Given the description of an element on the screen output the (x, y) to click on. 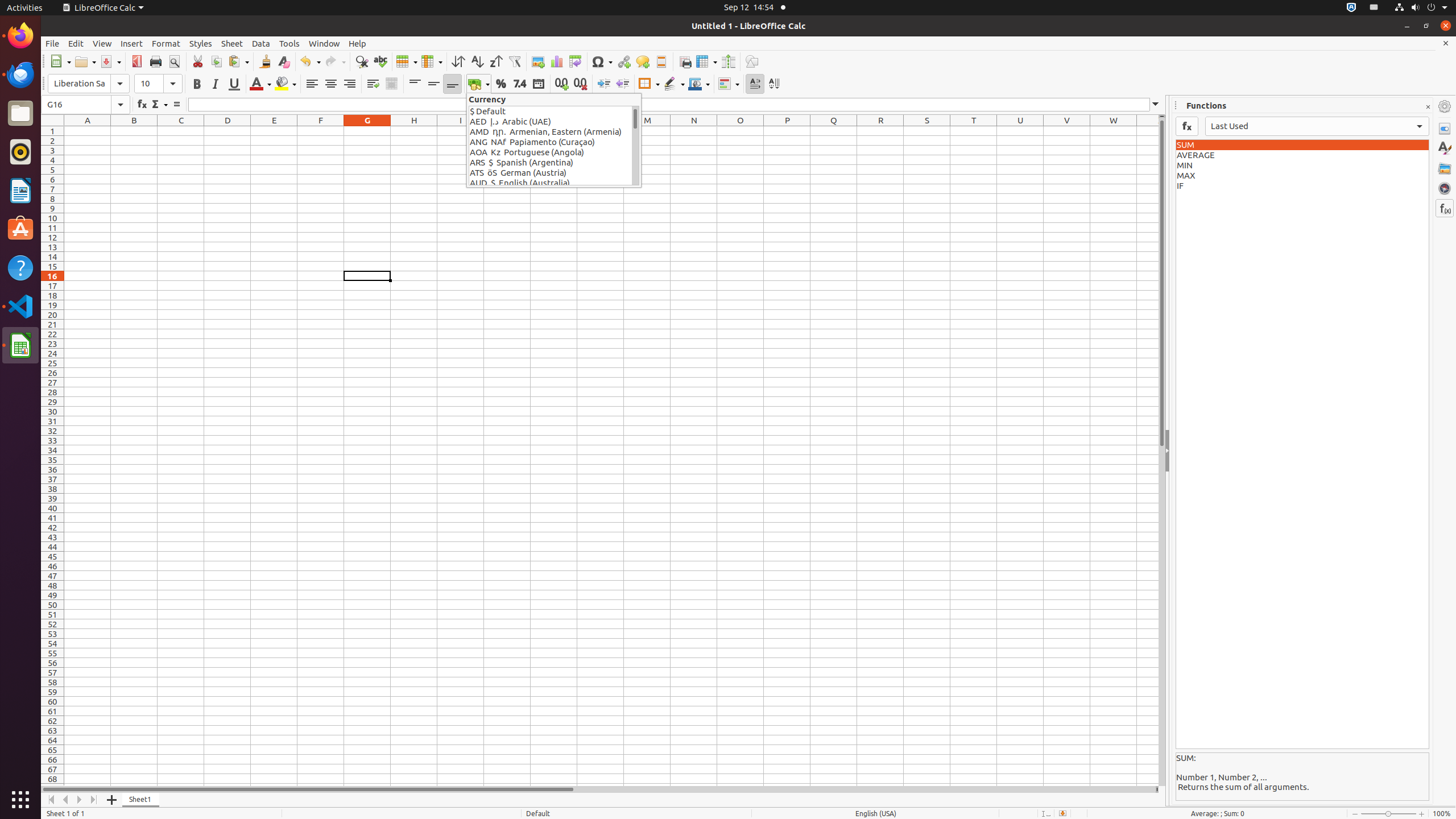
Move Left Element type: push-button (65, 799)
U1 Element type: table-cell (1020, 130)
New Element type: push-button (59, 61)
R1 Element type: table-cell (880, 130)
H1 Element type: table-cell (413, 130)
